Given the description of an element on the screen output the (x, y) to click on. 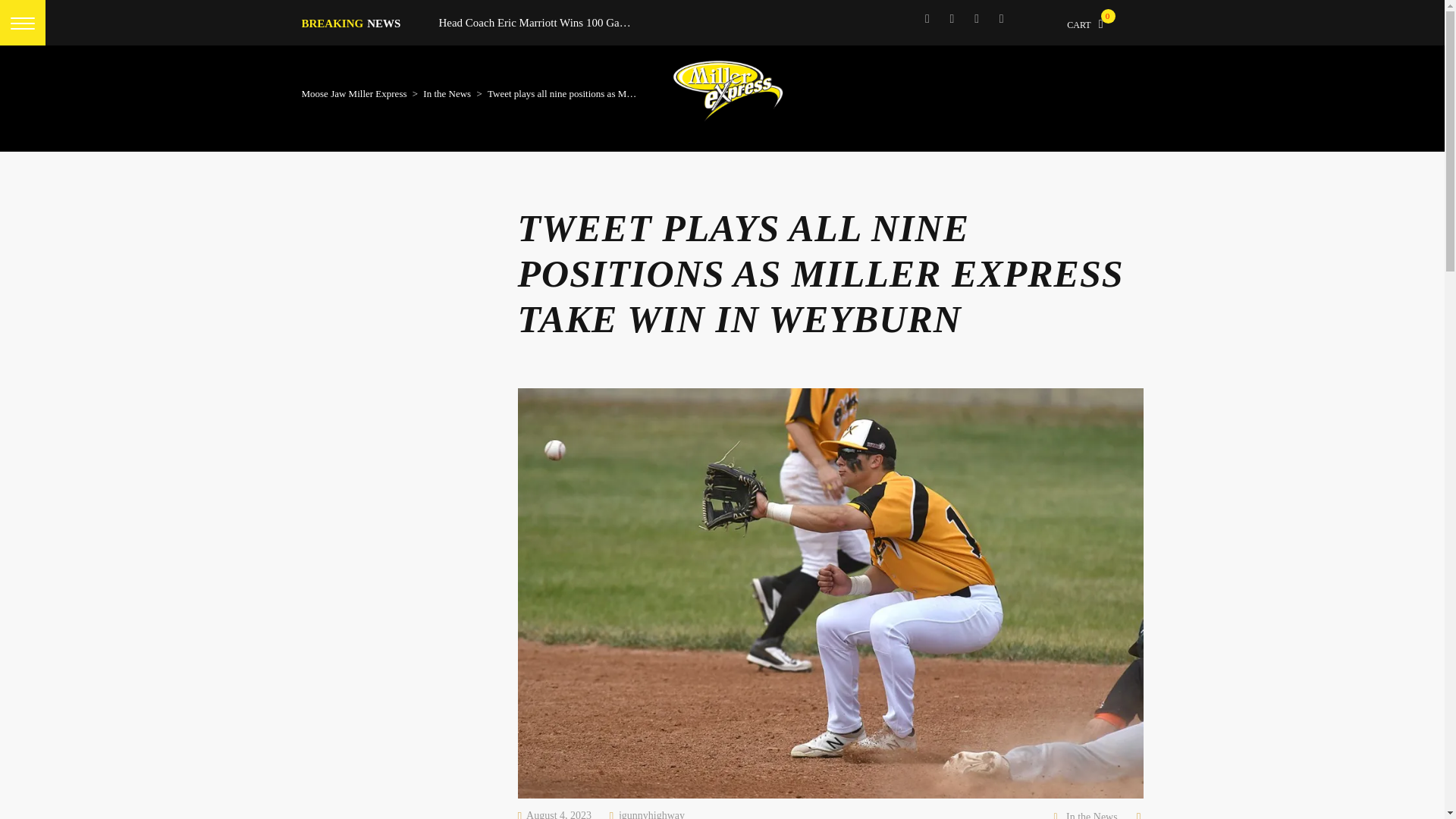
In the News (446, 93)
Go to Moose Jaw Miller Express. (354, 93)
Go to the In the News Category archives. (446, 93)
In the News (1091, 815)
Home (727, 90)
Moose Jaw Miller Express (354, 93)
Watch shop items (1088, 18)
